Given the description of an element on the screen output the (x, y) to click on. 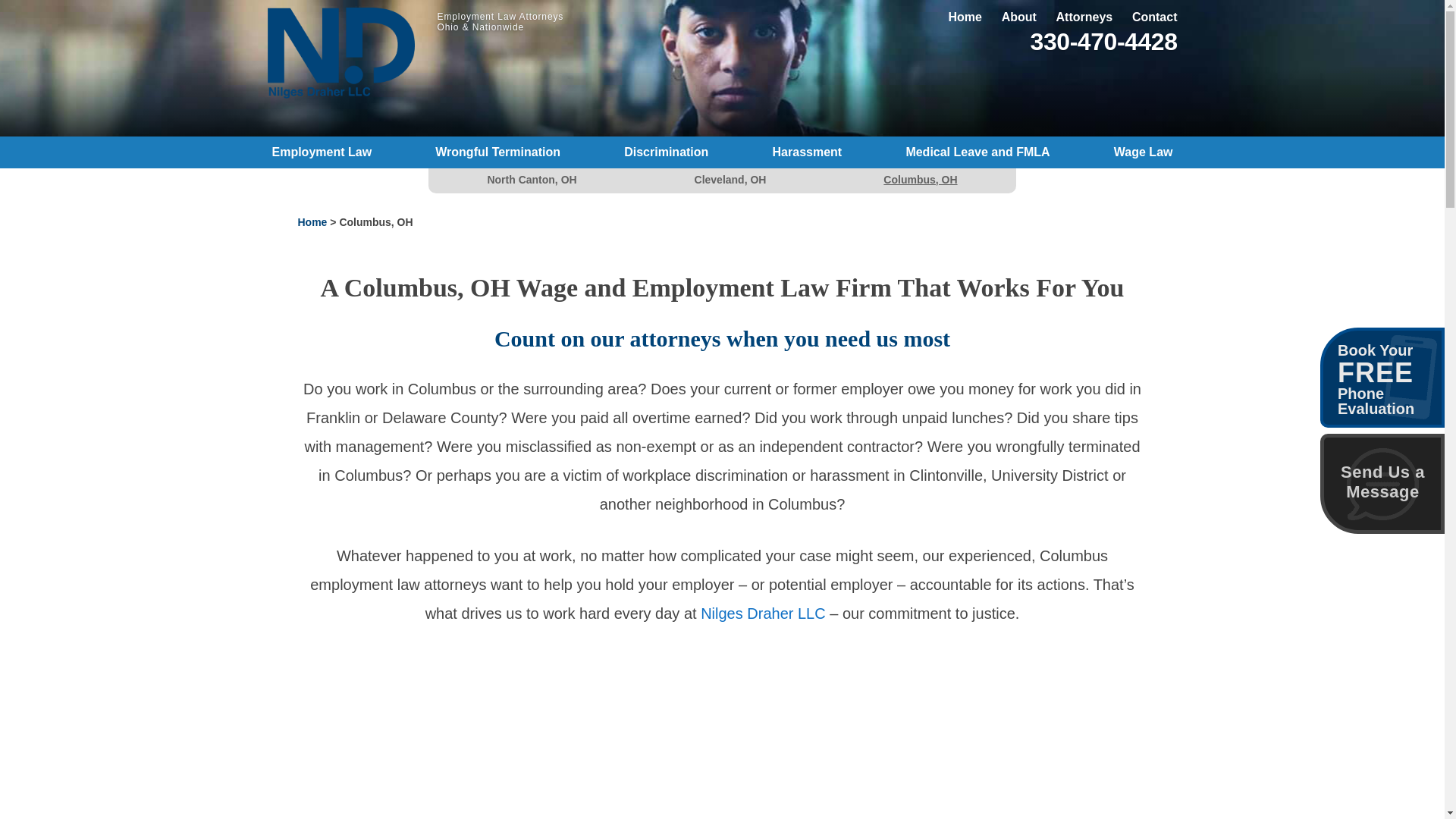
Discrimination (665, 152)
Columbus, OH (919, 179)
Attorneys (1085, 16)
Wrongful Termination (497, 152)
Medical Leave and FMLA (977, 152)
Cleveland, OH (730, 179)
About (1018, 16)
Home (311, 222)
Employment Law (321, 152)
Contact (1154, 16)
